Given the description of an element on the screen output the (x, y) to click on. 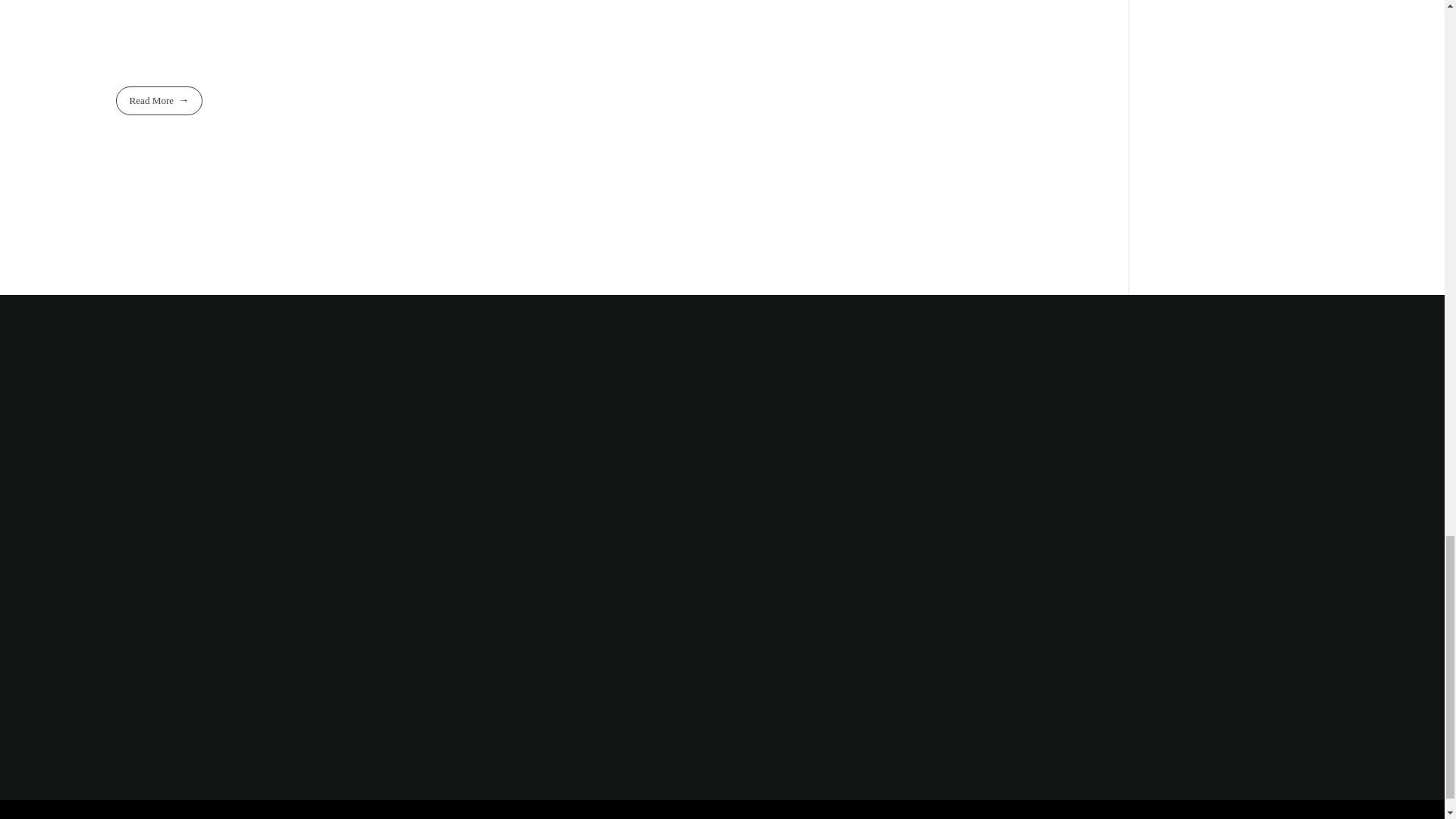
Read More (158, 100)
Terms And Conditions (1218, 818)
Privacy Policy (1306, 818)
subscribe (1236, 451)
